Given the description of an element on the screen output the (x, y) to click on. 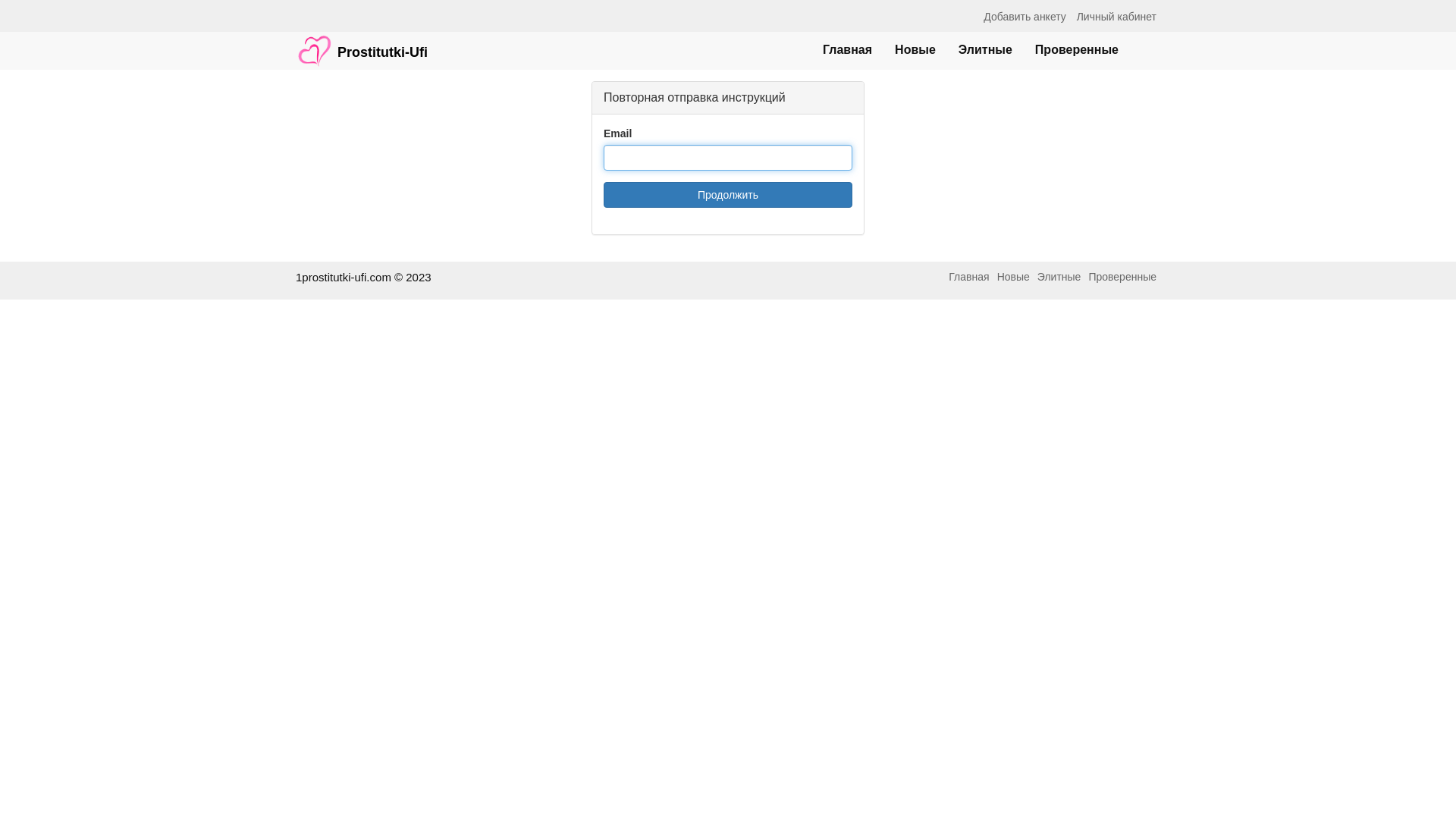
Prostitutki-Ufi Element type: text (361, 43)
